Given the description of an element on the screen output the (x, y) to click on. 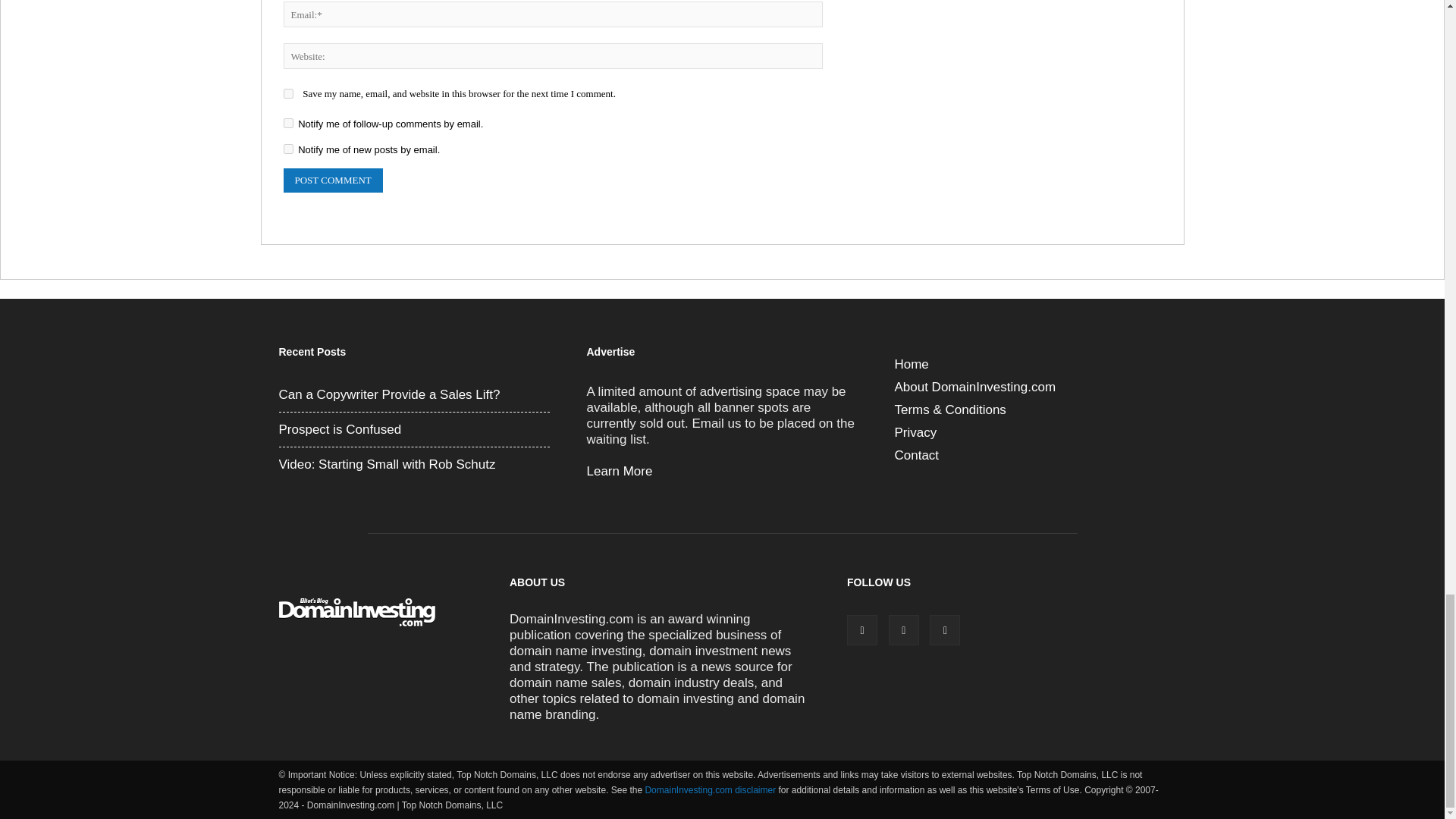
subscribe (288, 122)
yes (288, 93)
subscribe (288, 148)
Post Comment (332, 180)
